Given the description of an element on the screen output the (x, y) to click on. 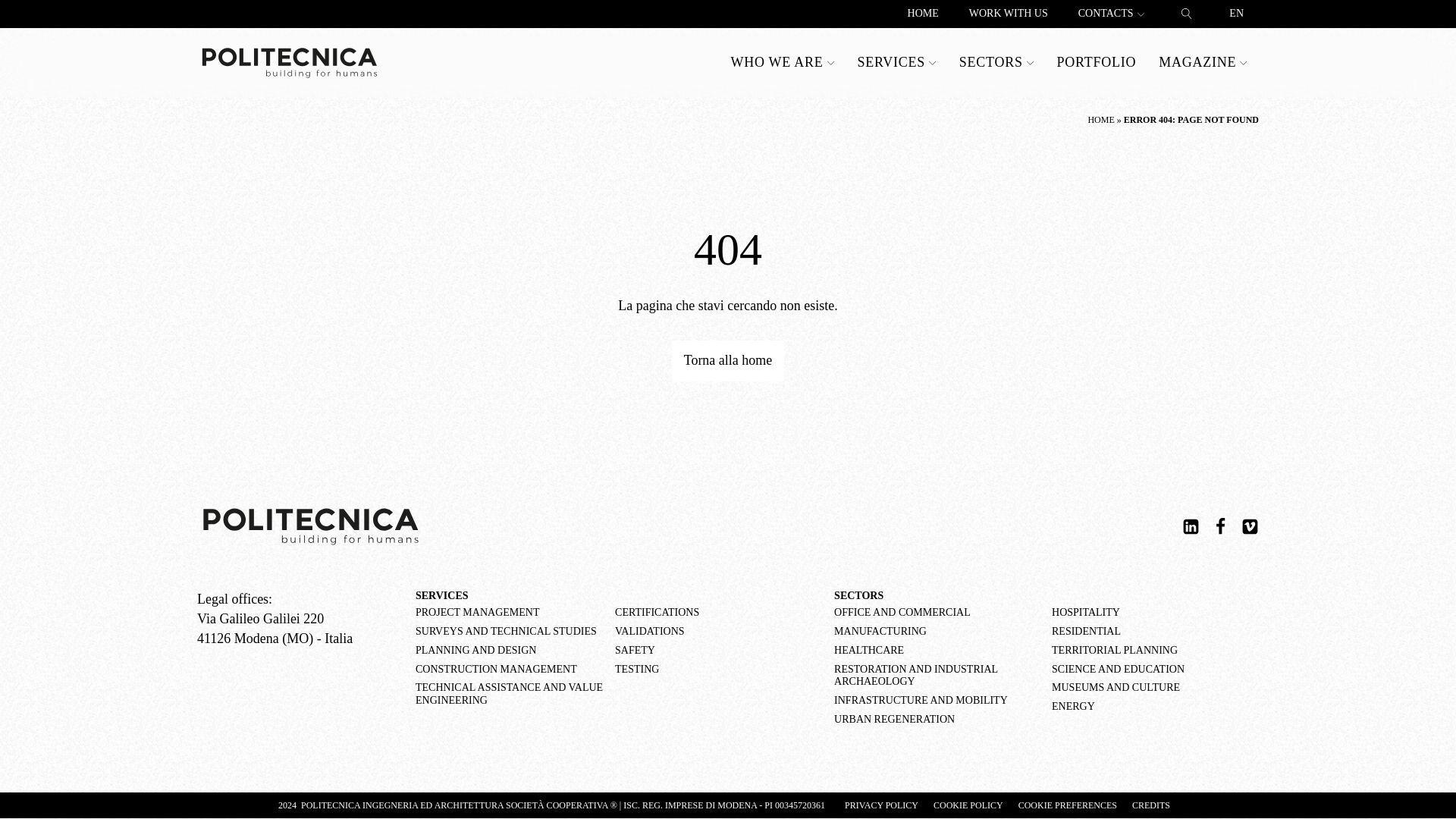
WHO WE ARE (782, 62)
WORK WITH US (1007, 13)
EN (1236, 13)
Search (27, 10)
SECTORS (996, 62)
HOME (922, 13)
MAGAZINE (1202, 62)
PORTFOLIO (1097, 62)
CONTACTS (1111, 13)
SERVICES (896, 62)
